Given the description of an element on the screen output the (x, y) to click on. 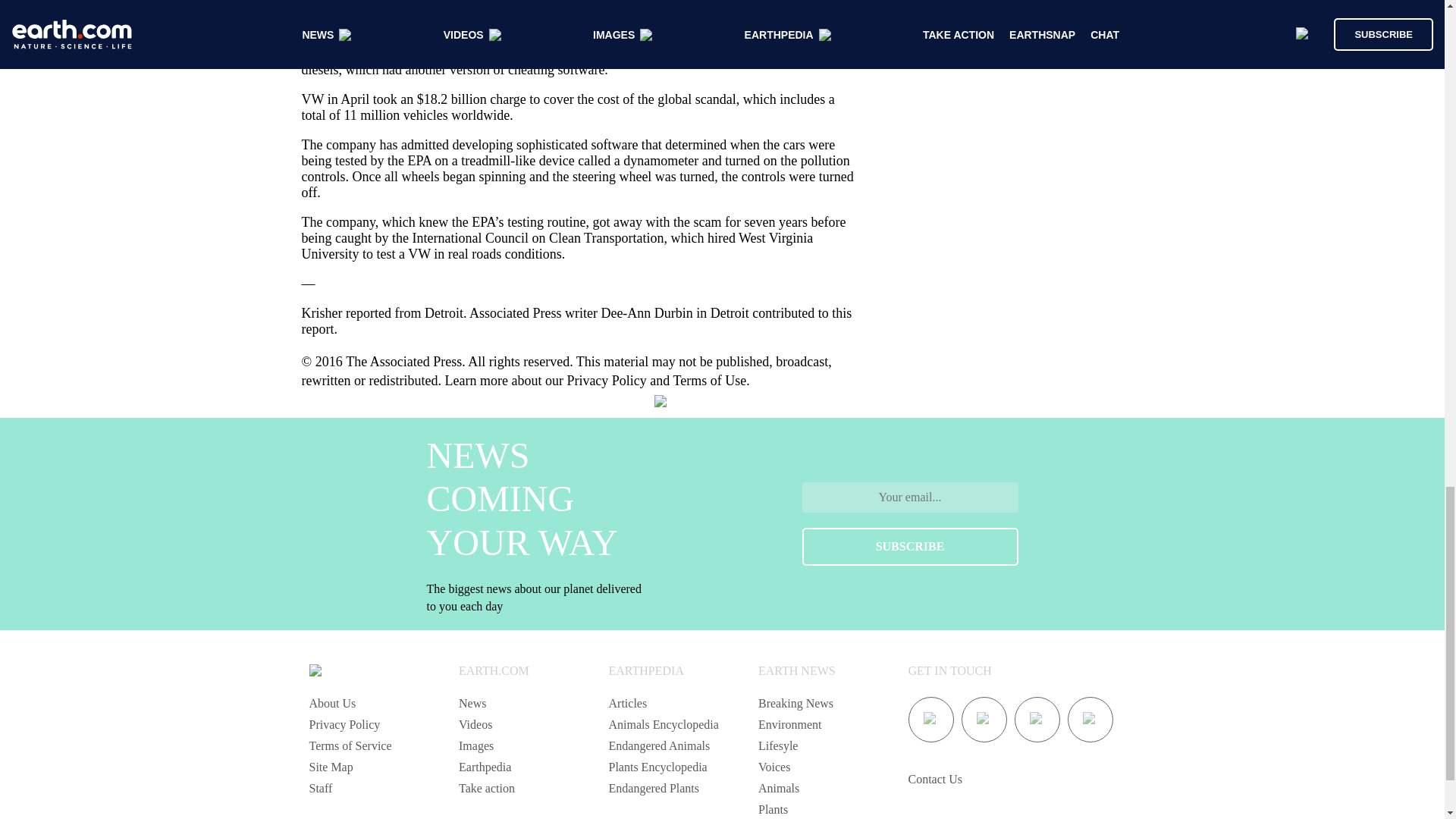
Privacy Policy (344, 724)
SUBSCRIBE (909, 546)
About Us (332, 703)
Terms of Service (349, 745)
